Given the description of an element on the screen output the (x, y) to click on. 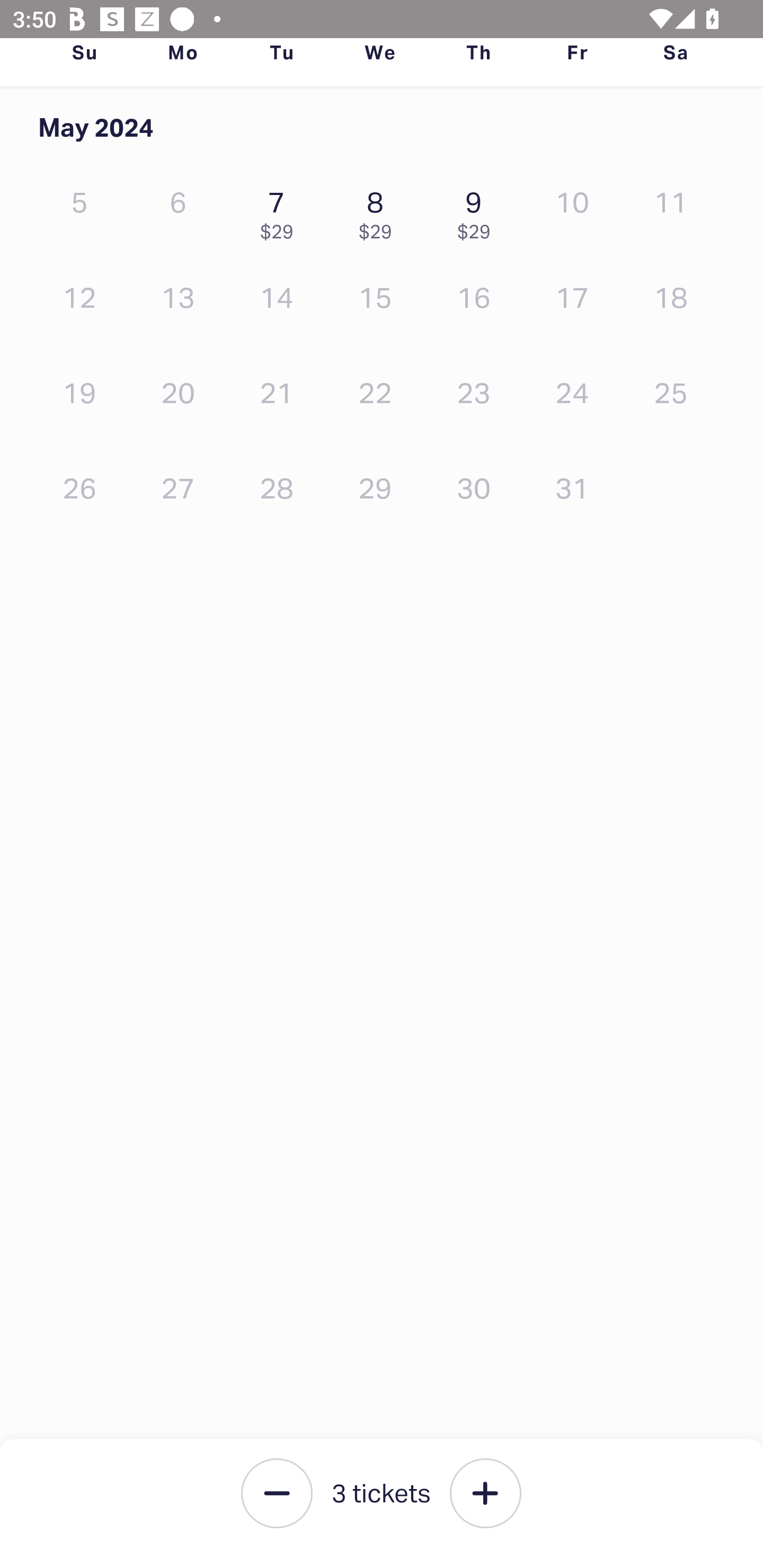
7 $29 (281, 210)
8 $29 (379, 210)
9 $29 (478, 210)
